Given the description of an element on the screen output the (x, y) to click on. 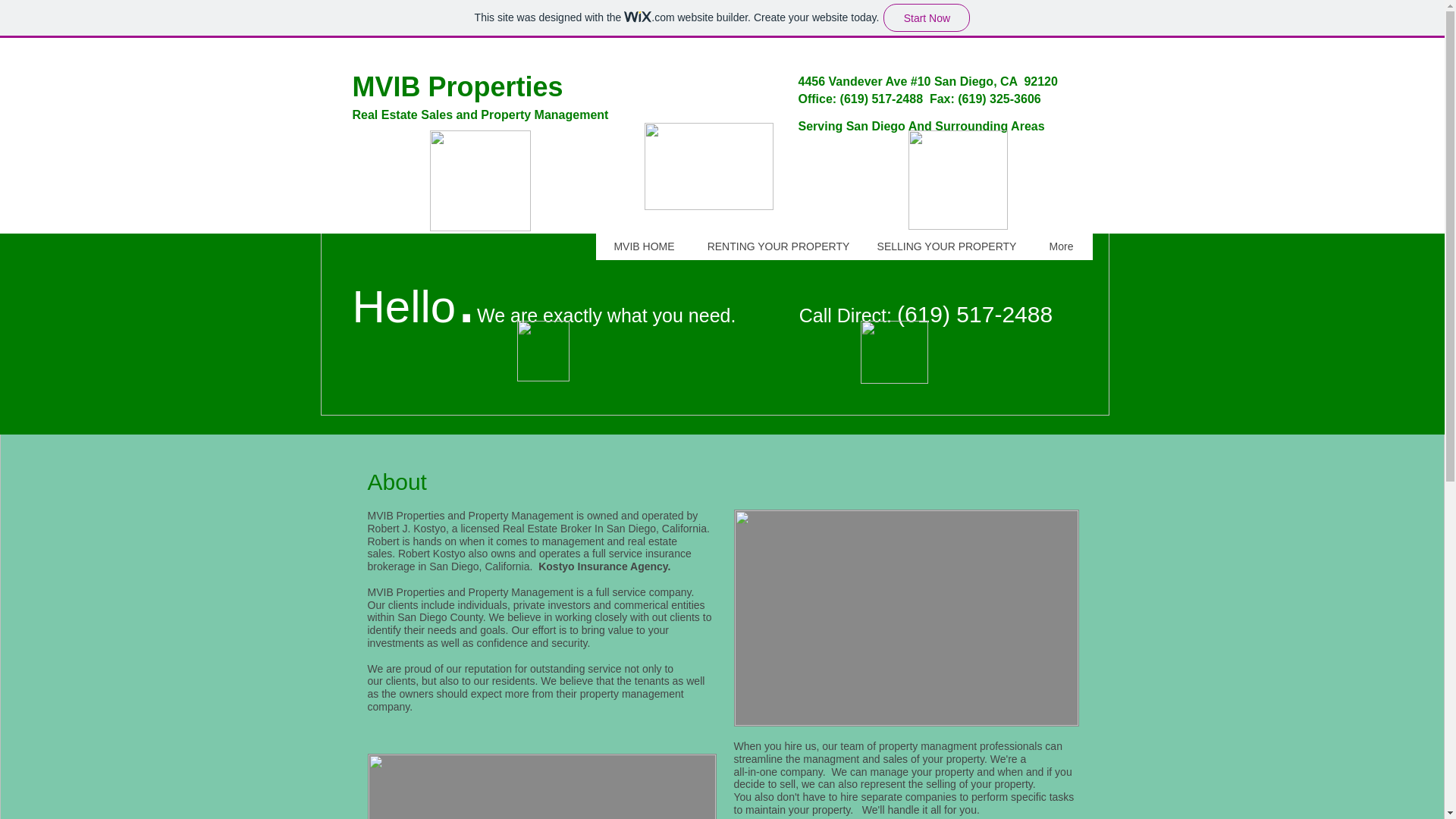
Sold (905, 617)
MVIB HOME (644, 246)
RENTING YOUR PROPERTY (778, 246)
equal-housing-opportunity.jpg (893, 352)
SELLING YOUR PROPERTY (946, 246)
